Given the description of an element on the screen output the (x, y) to click on. 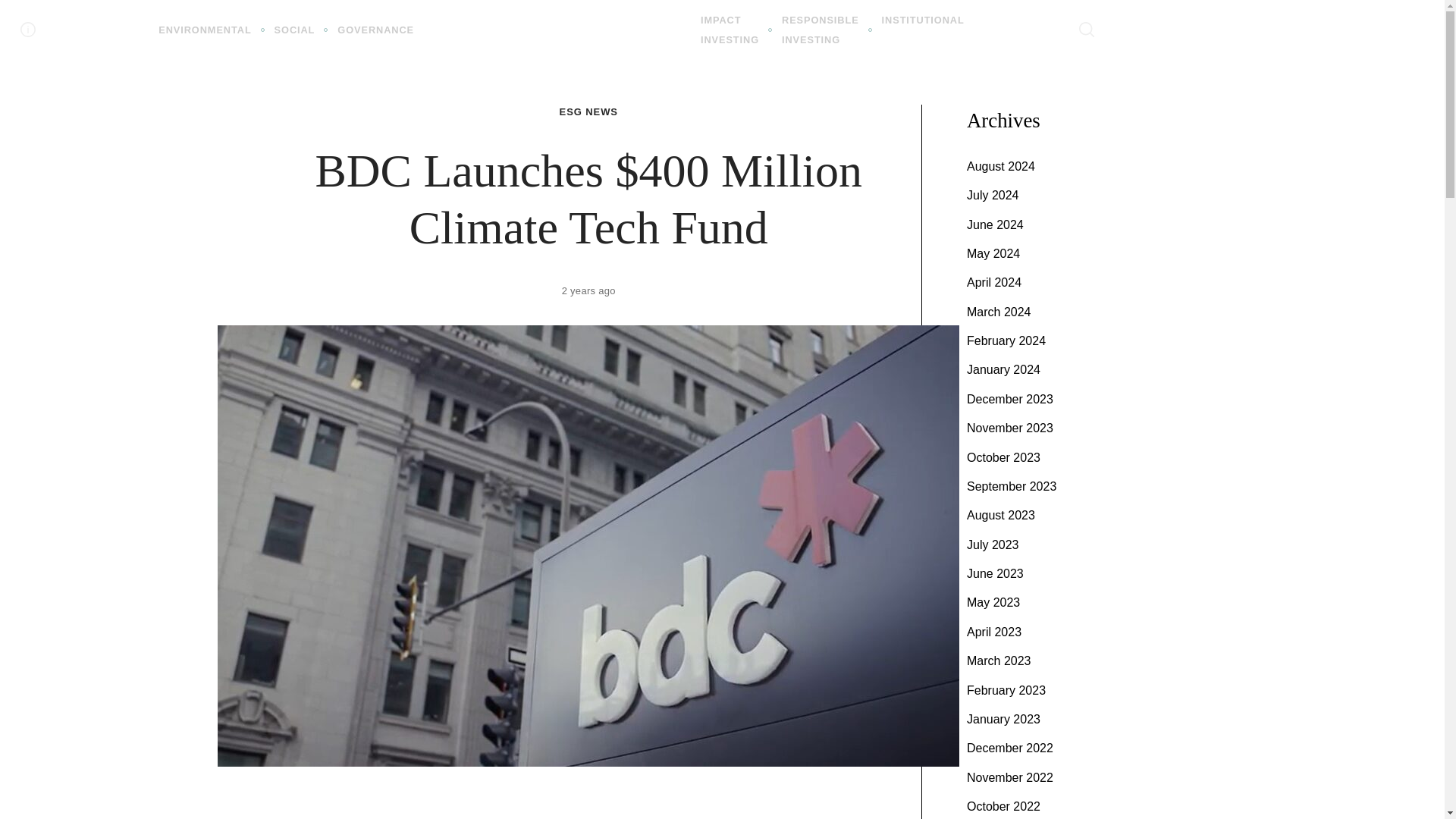
GOVERNANCE (729, 29)
ESG INVESTING (820, 29)
ESG NEWS (375, 30)
SOCIAL (557, 28)
INSTITUTIONAL (588, 112)
ENVIRONMENTAL (295, 30)
